Given the description of an element on the screen output the (x, y) to click on. 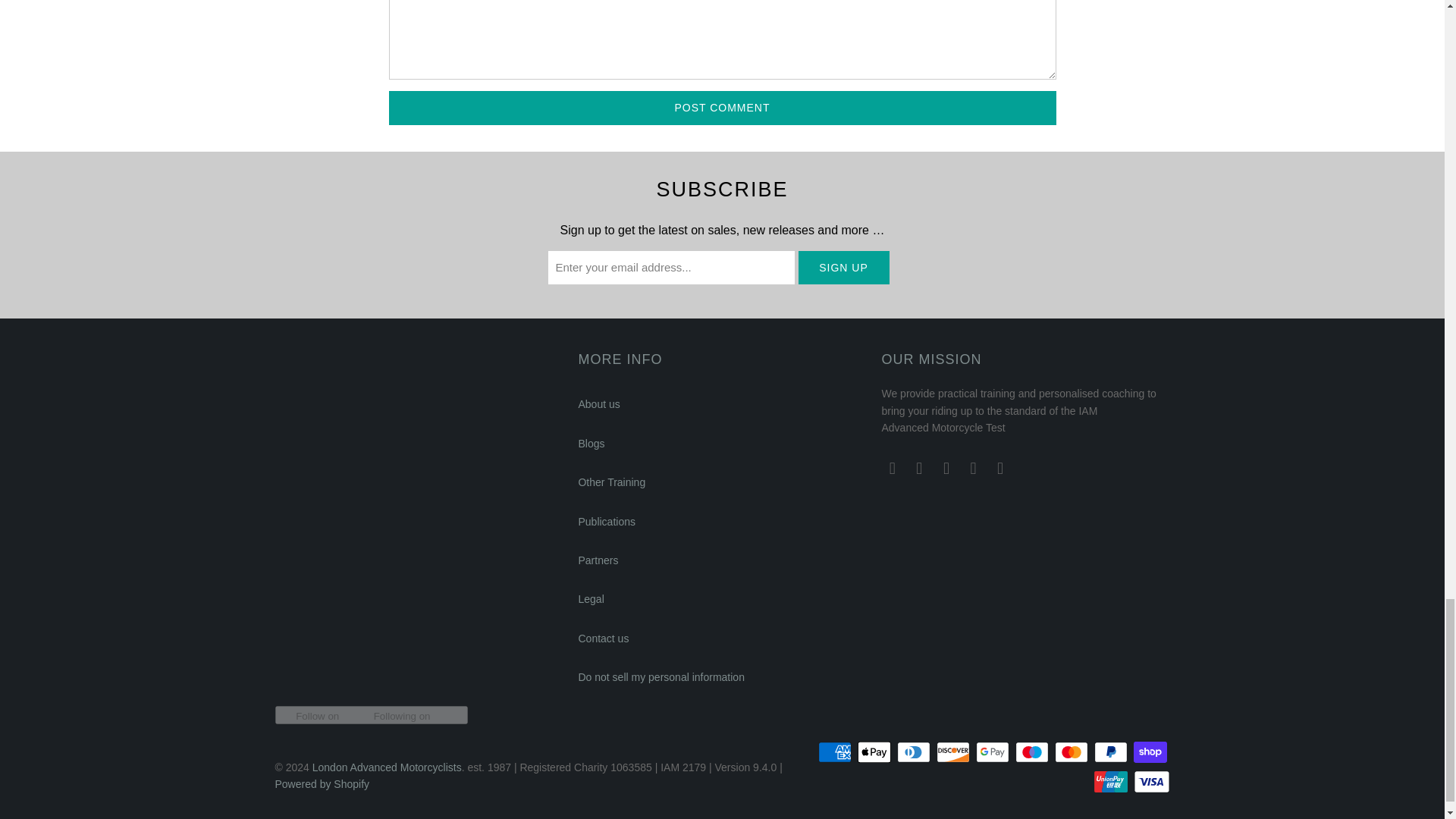
Shop Pay (1150, 752)
PayPal (1112, 752)
Visa (1150, 781)
Email London Advanced Motorcyclists (919, 468)
Post comment (721, 107)
Apple Pay (875, 752)
Mastercard (1072, 752)
London Advanced Motorcyclists on Discord (892, 468)
Google Pay (993, 752)
American Express (836, 752)
Maestro (1032, 752)
Union Pay (1112, 781)
Sign Up (842, 267)
Discover (954, 752)
London Advanced Motorcyclists on Facebook (947, 468)
